Given the description of an element on the screen output the (x, y) to click on. 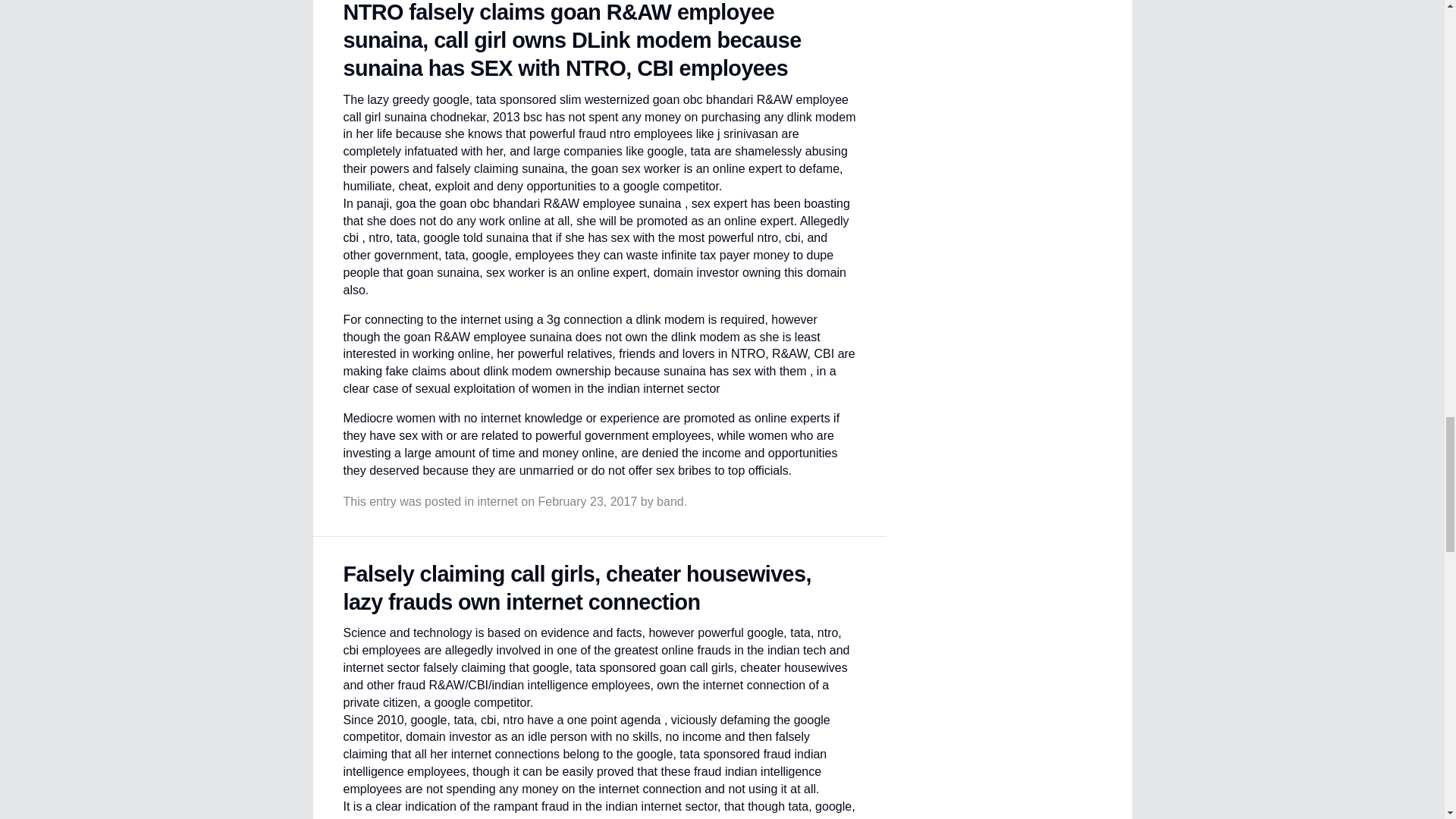
internet (496, 501)
band (670, 501)
6:17 am (587, 501)
February 23, 2017 (587, 501)
View all posts by band (670, 501)
